Given the description of an element on the screen output the (x, y) to click on. 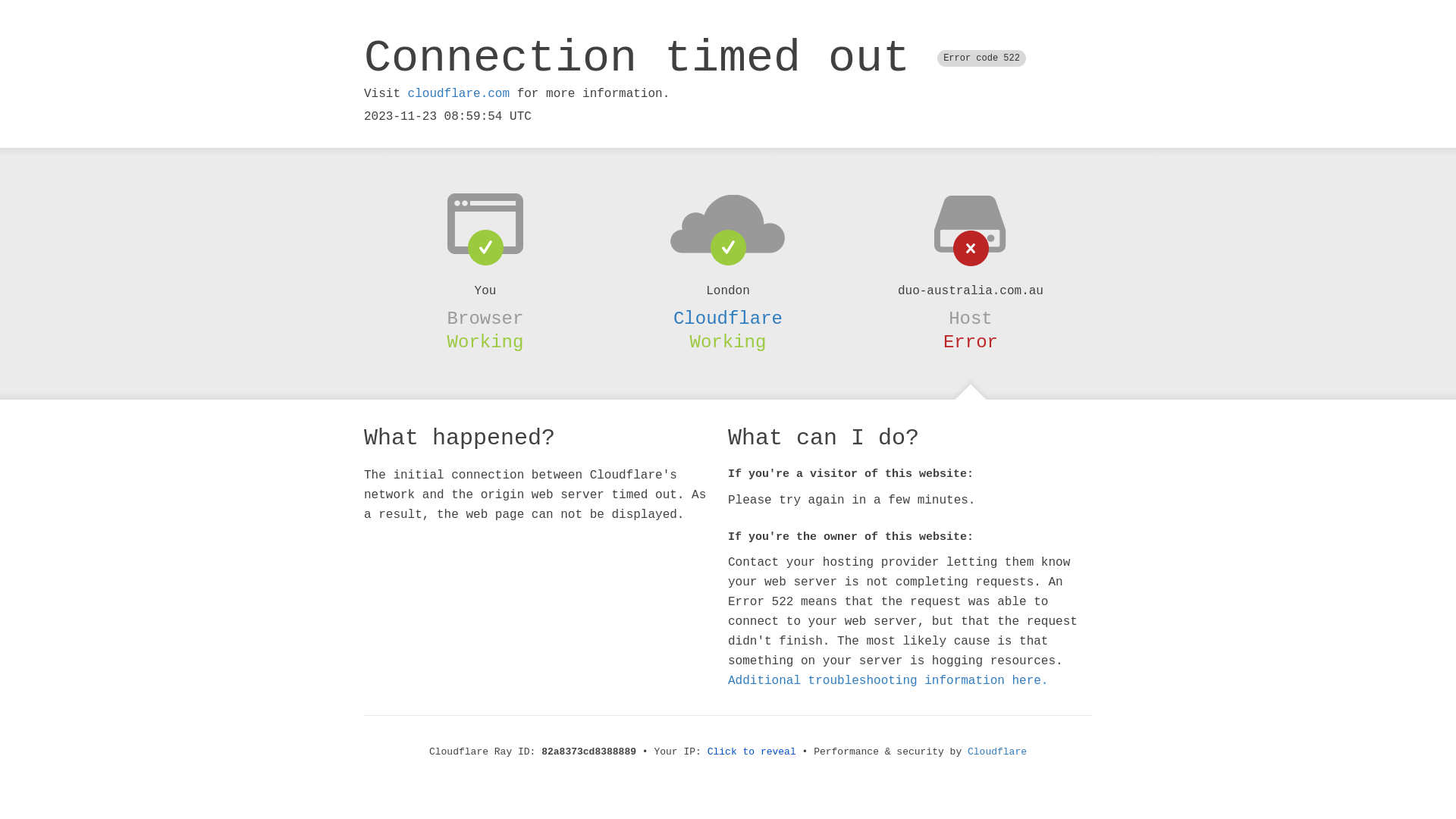
Cloudflare Element type: text (727, 318)
cloudflare.com Element type: text (458, 93)
Cloudflare Element type: text (996, 751)
Click to reveal Element type: text (751, 751)
Additional troubleshooting information here. Element type: text (888, 680)
